Given the description of an element on the screen output the (x, y) to click on. 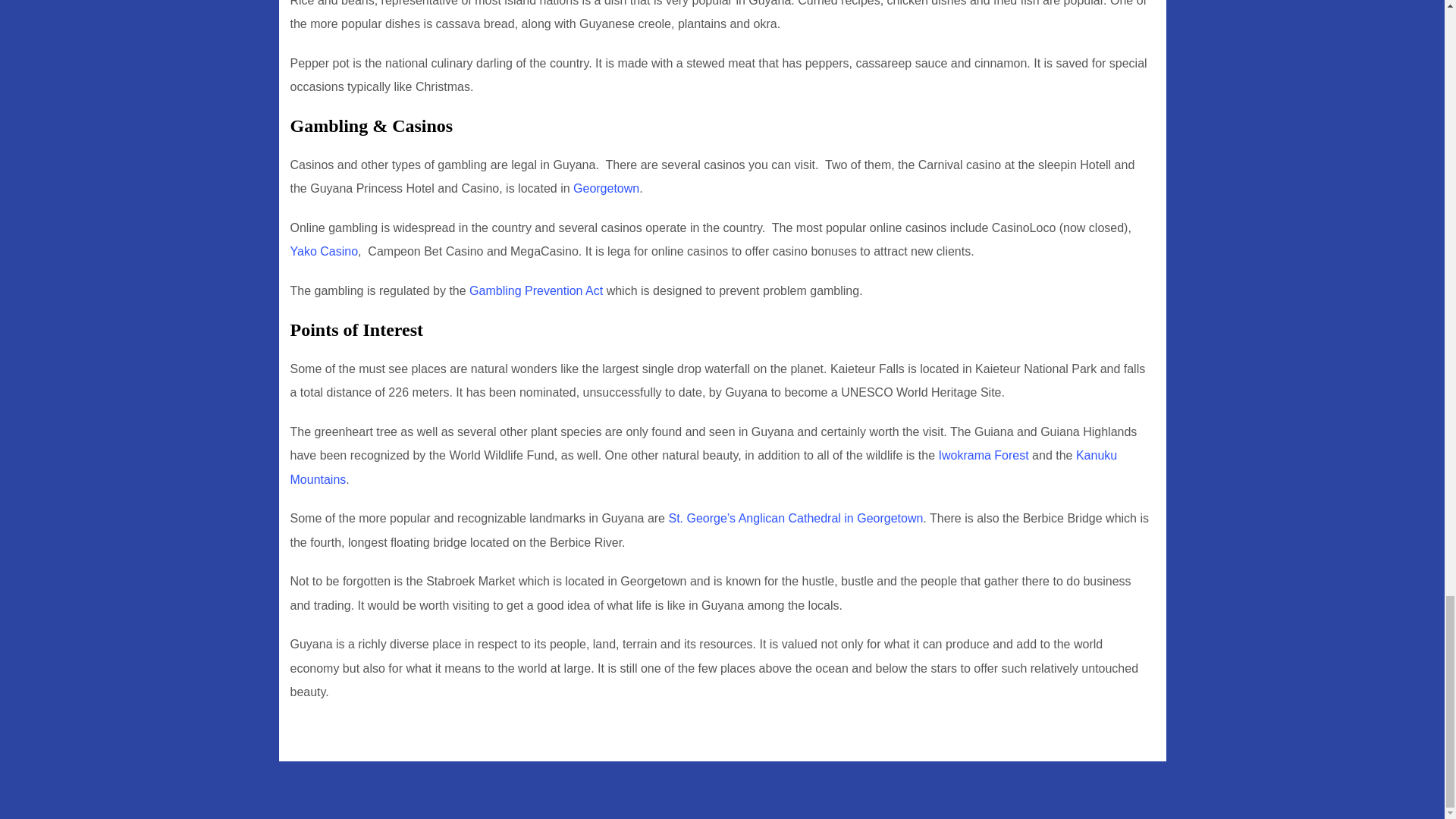
Kanuku Mountains (702, 467)
Gambling Prevention Act (535, 290)
Iwokrama Forest (984, 454)
Yako Casino (323, 250)
Georgetown (606, 187)
